Given the description of an element on the screen output the (x, y) to click on. 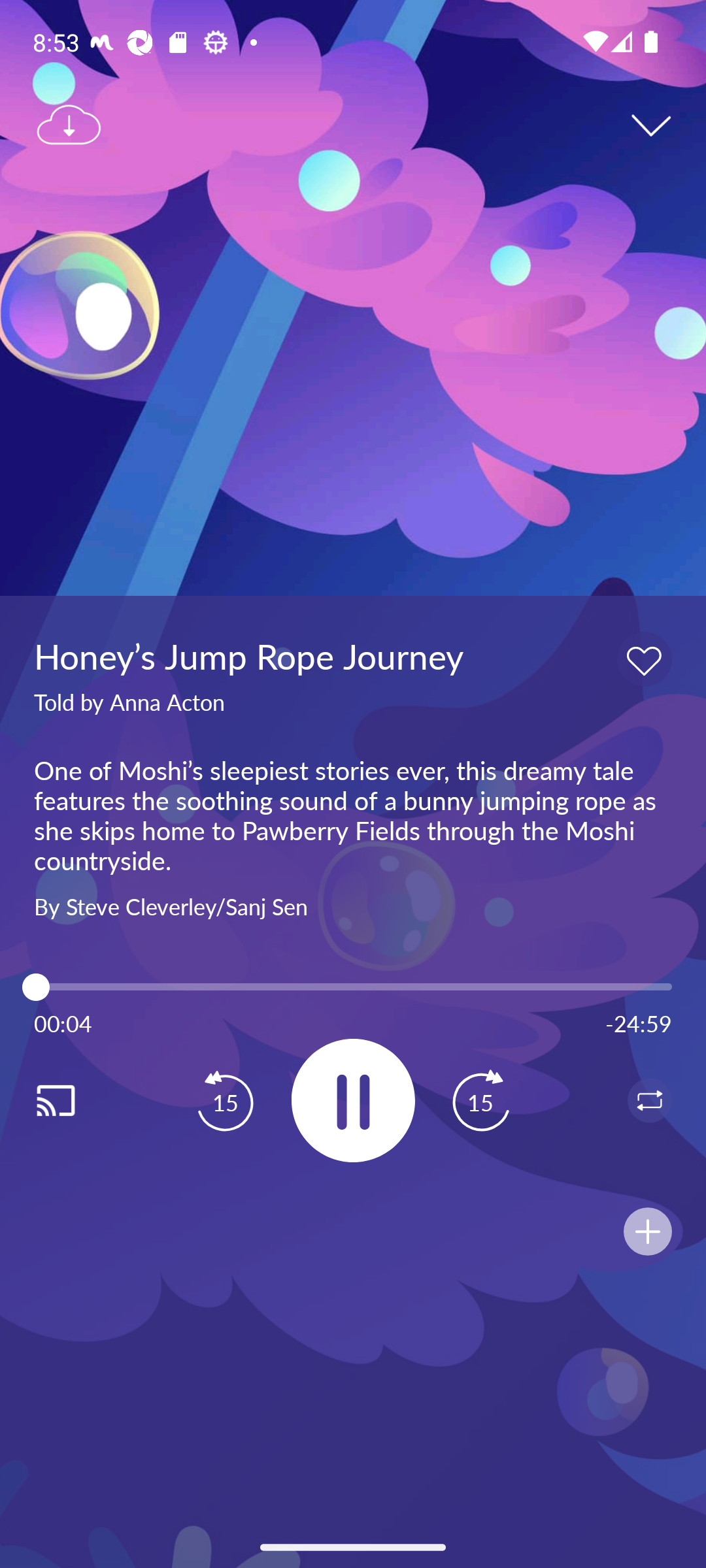
3.0 (352, 986)
Cast. Disconnected (76, 1100)
